Given the description of an element on the screen output the (x, y) to click on. 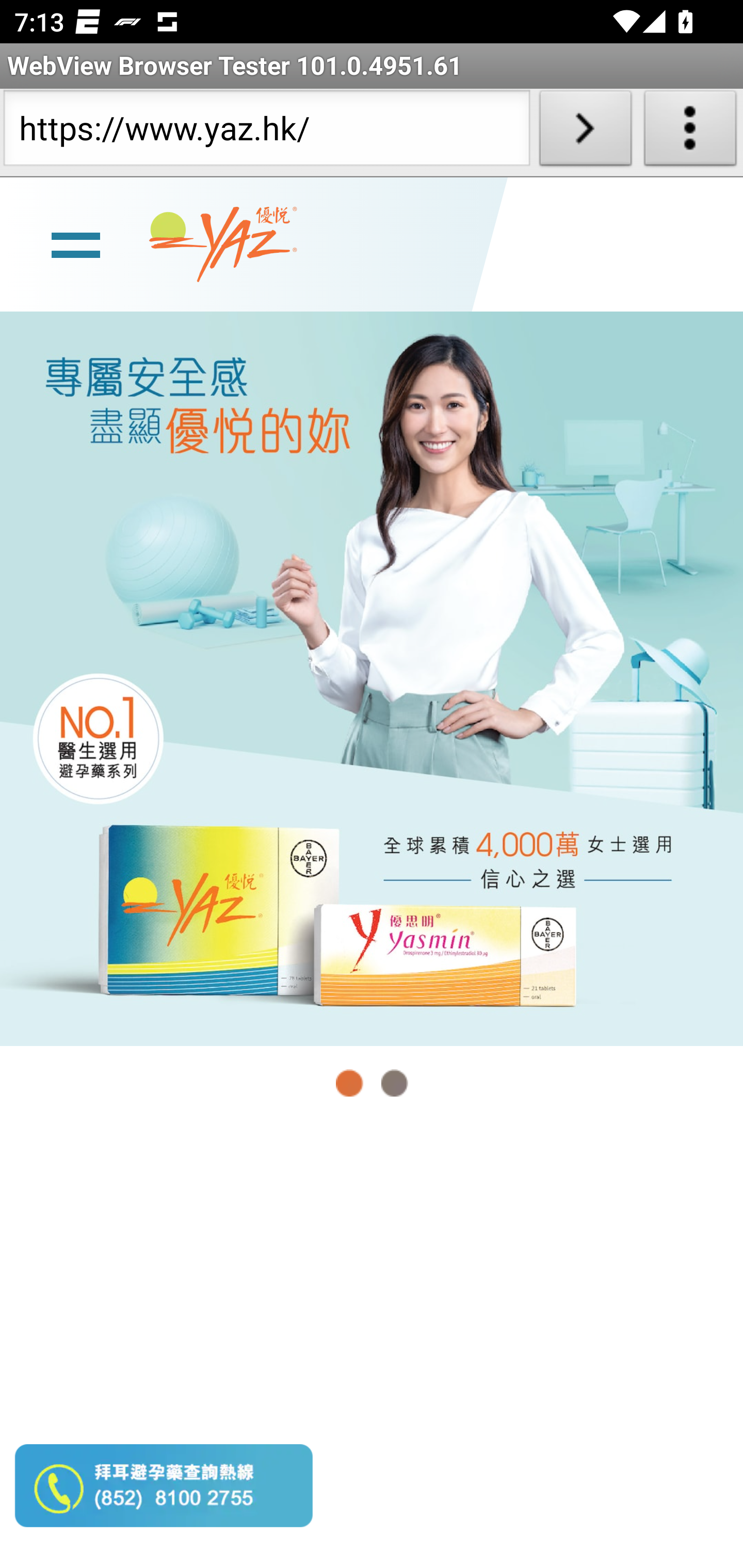
https://www.yaz.hk/ (266, 132)
Load URL (585, 132)
About WebView (690, 132)
www.yaz (222, 244)
line Toggle burger menu (75, 242)
slide 1 Alt tag Alt tag (371, 677)
1 of 2 (349, 1083)
2 of 2 (393, 1083)
Video Player (371, 1345)
